Given the description of an element on the screen output the (x, y) to click on. 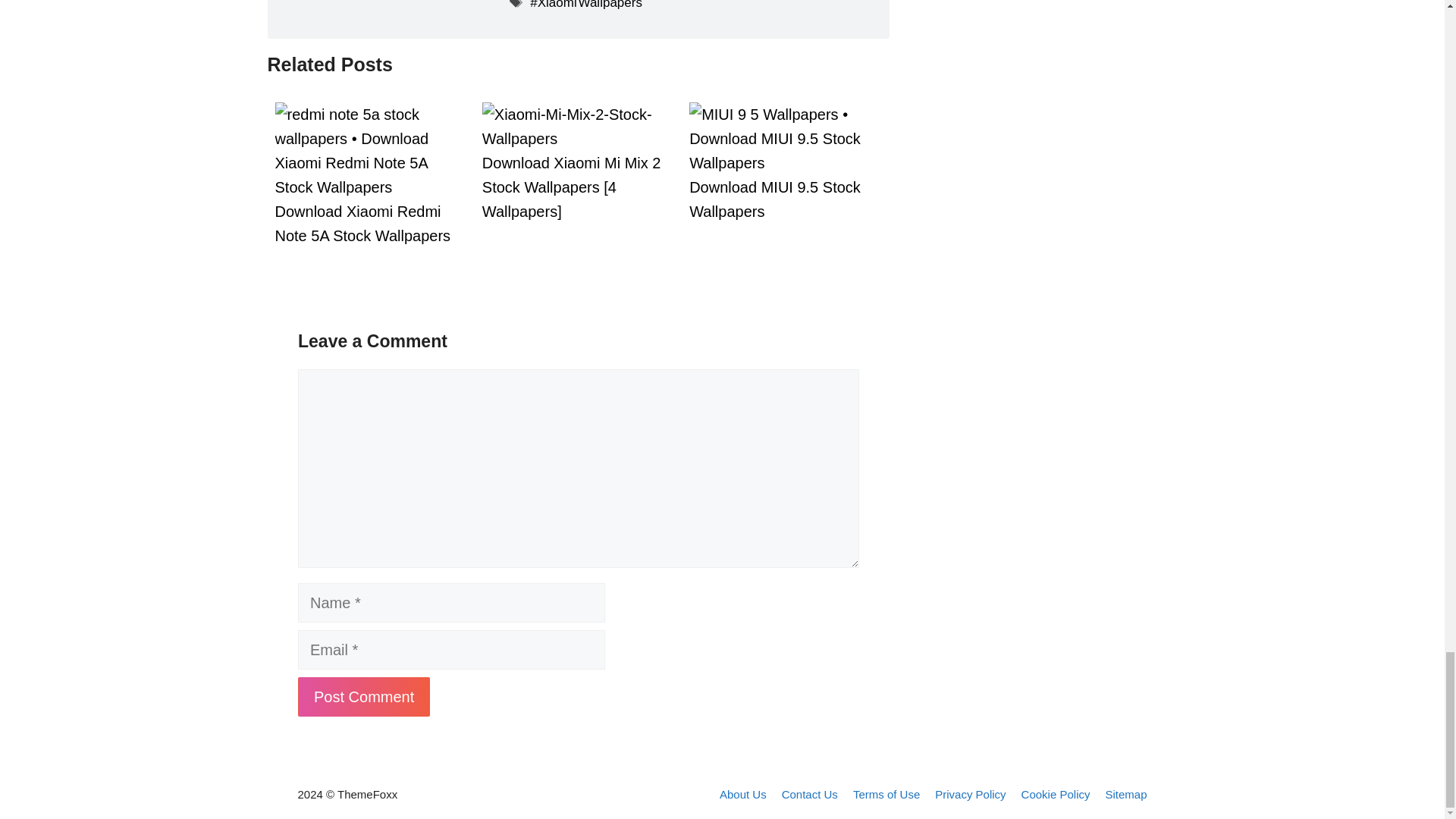
Xiaomi Wallpapers (585, 4)
